Given the description of an element on the screen output the (x, y) to click on. 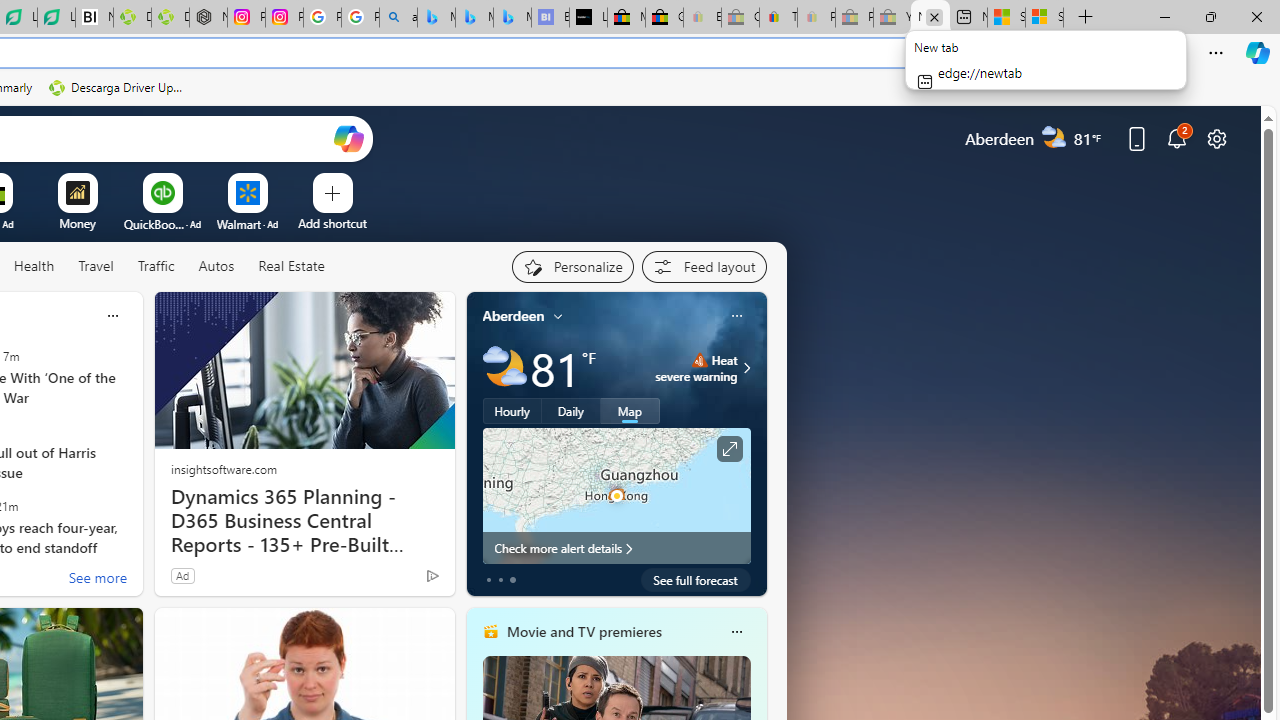
Feed settings (703, 266)
Health (34, 265)
Descarga Driver Updater (118, 88)
Microsoft Bing Travel - Flights from Hong Kong to Bangkok (436, 17)
Shanghai, China hourly forecast | Microsoft Weather (1006, 17)
This story is trending (393, 579)
Real Estate (290, 267)
Travel (95, 267)
Check more alert details (616, 547)
tab-1 (500, 579)
Autos (216, 267)
Sign in to your Microsoft account (1044, 17)
